Given the description of an element on the screen output the (x, y) to click on. 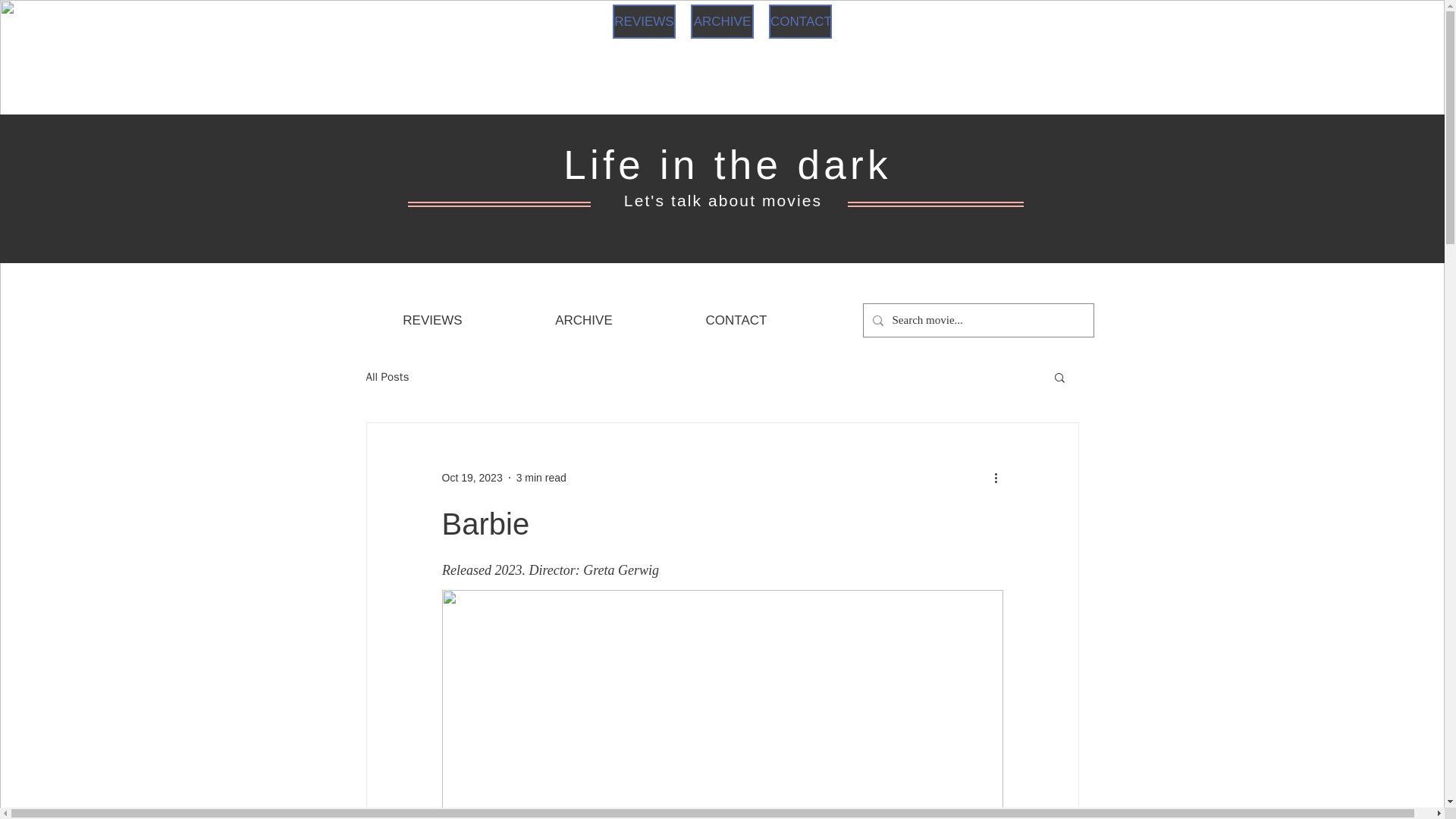
All Posts (387, 377)
REVIEWS (432, 320)
3 min read (541, 477)
CONTACT (799, 21)
ARCHIVE (722, 21)
REVIEWS (643, 21)
Let's talk about movies (723, 200)
CONTACT (735, 320)
ARCHIVE (584, 320)
Oct 19, 2023 (471, 477)
Life in the dark (727, 164)
